Given the description of an element on the screen output the (x, y) to click on. 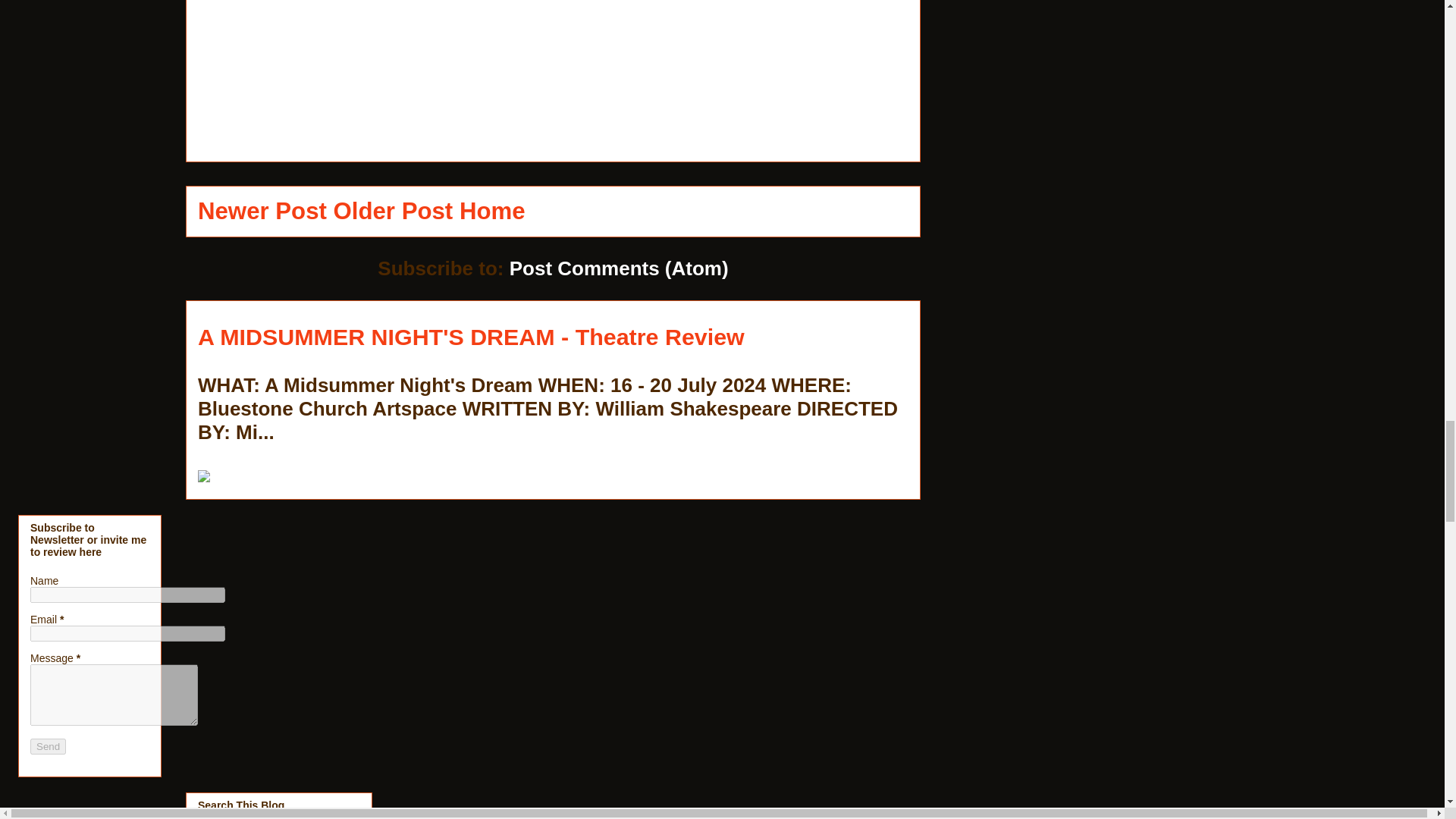
Newer Post (262, 211)
Home (492, 211)
Older Post (392, 211)
Older Post (392, 211)
Newer Post (262, 211)
Send (47, 746)
A MIDSUMMER NIGHT'S DREAM - Theatre Review (471, 336)
